Given the description of an element on the screen output the (x, y) to click on. 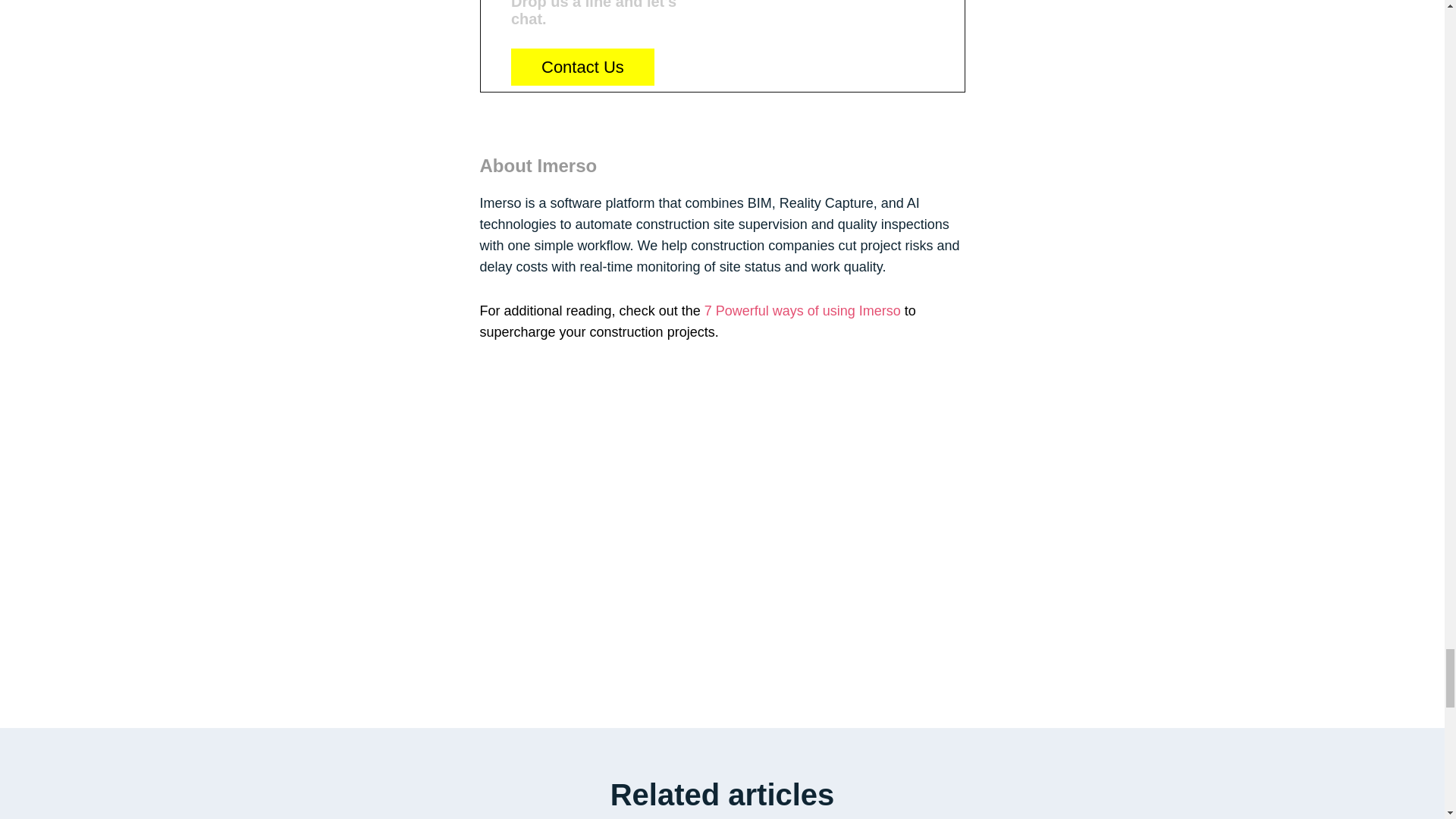
Embedded CTA (721, 46)
YouTube video player (721, 501)
